Given the description of an element on the screen output the (x, y) to click on. 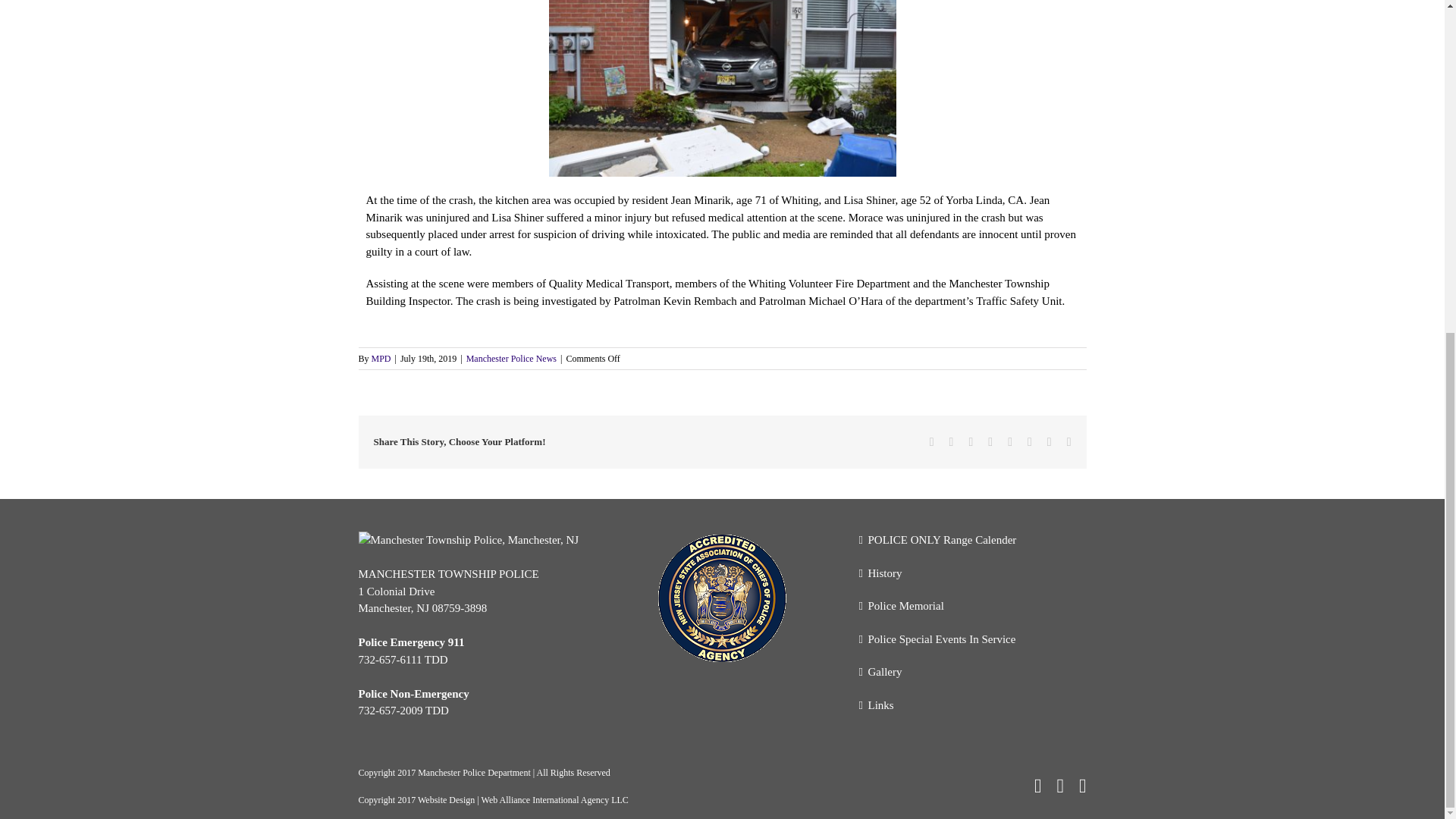
Posts by MPD (381, 357)
